Given the description of an element on the screen output the (x, y) to click on. 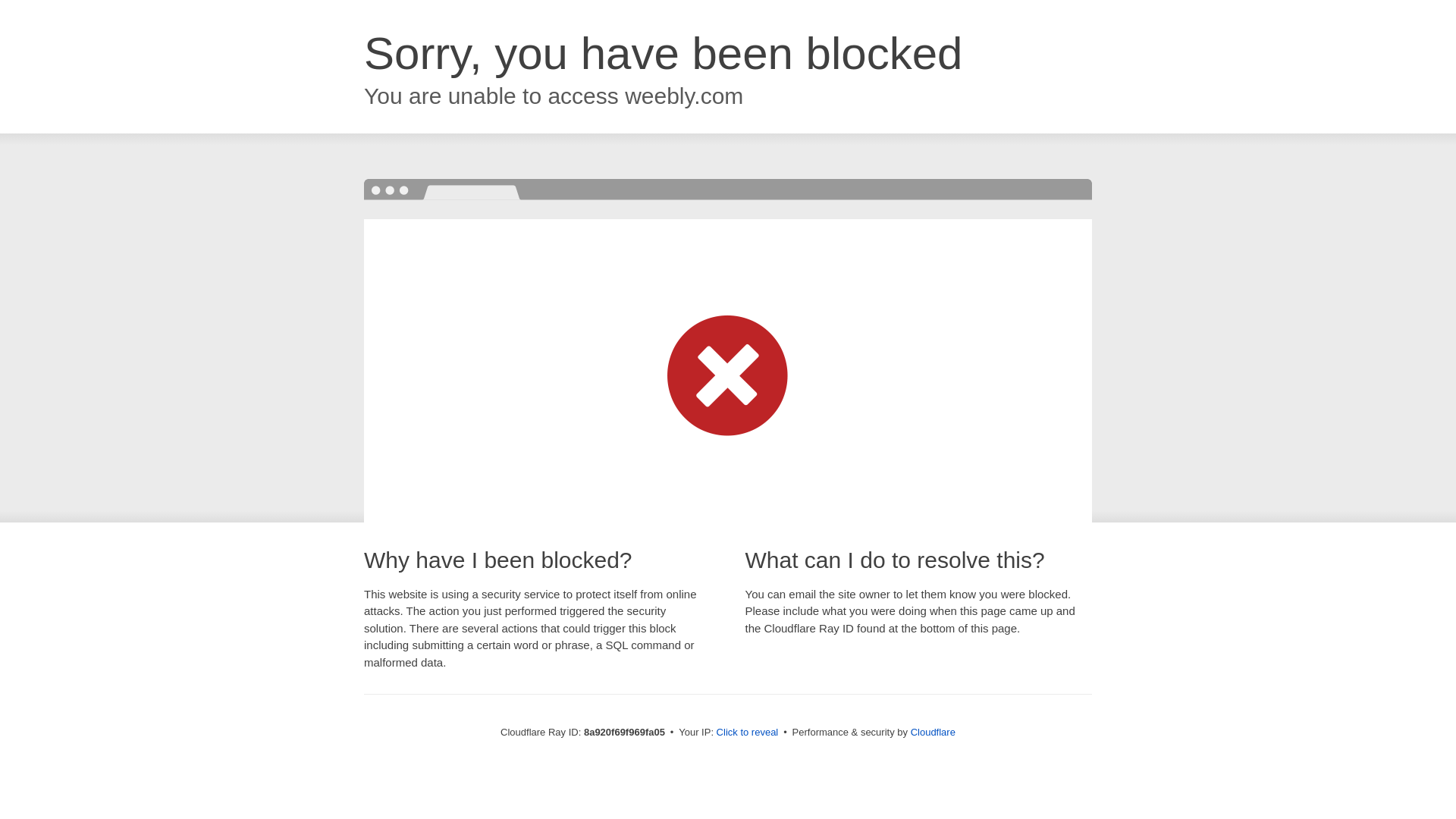
Click to reveal (747, 732)
Cloudflare (933, 731)
